Given the description of an element on the screen output the (x, y) to click on. 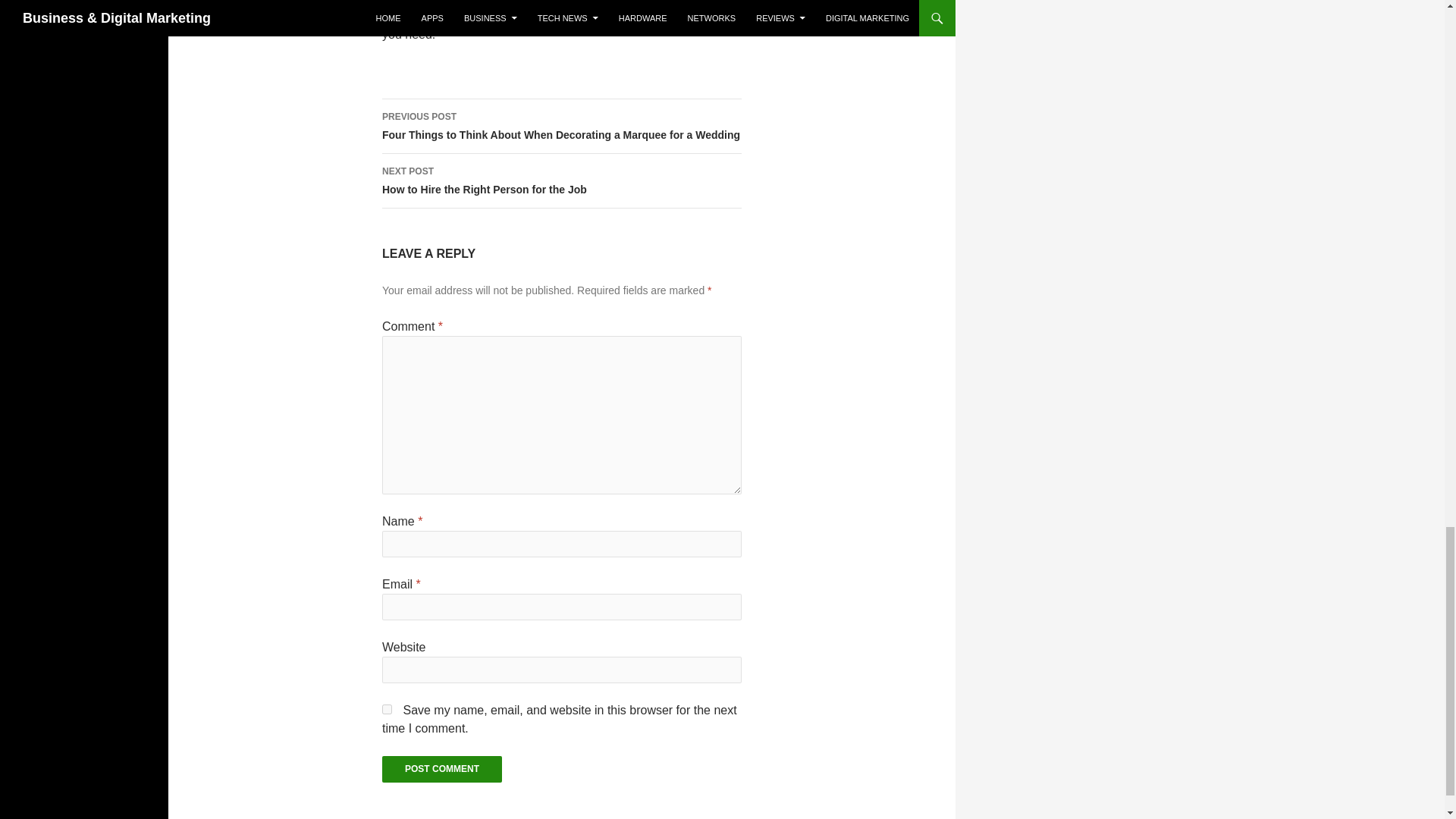
Post Comment (441, 768)
yes (561, 180)
Post Comment (386, 709)
